Given the description of an element on the screen output the (x, y) to click on. 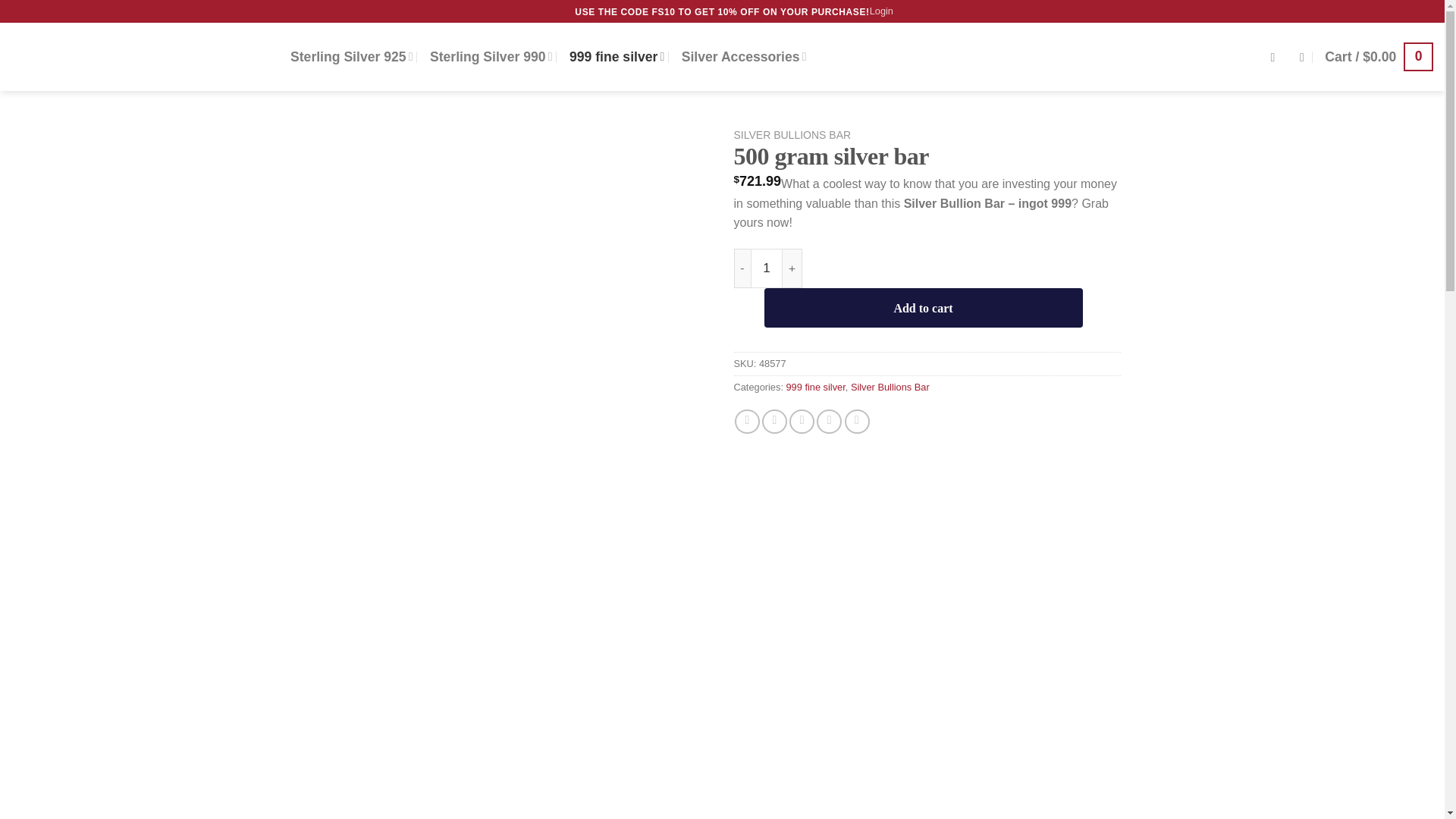
Login (881, 11)
Sterling Silver 925 (351, 56)
Silver Accessories (743, 56)
Cart (1378, 56)
Pin on Pinterest (828, 421)
Share on LinkedIn (856, 421)
Sterling Silver 990 (491, 56)
Email to a Friend (801, 421)
Share on Twitter (774, 421)
